Given the description of an element on the screen output the (x, y) to click on. 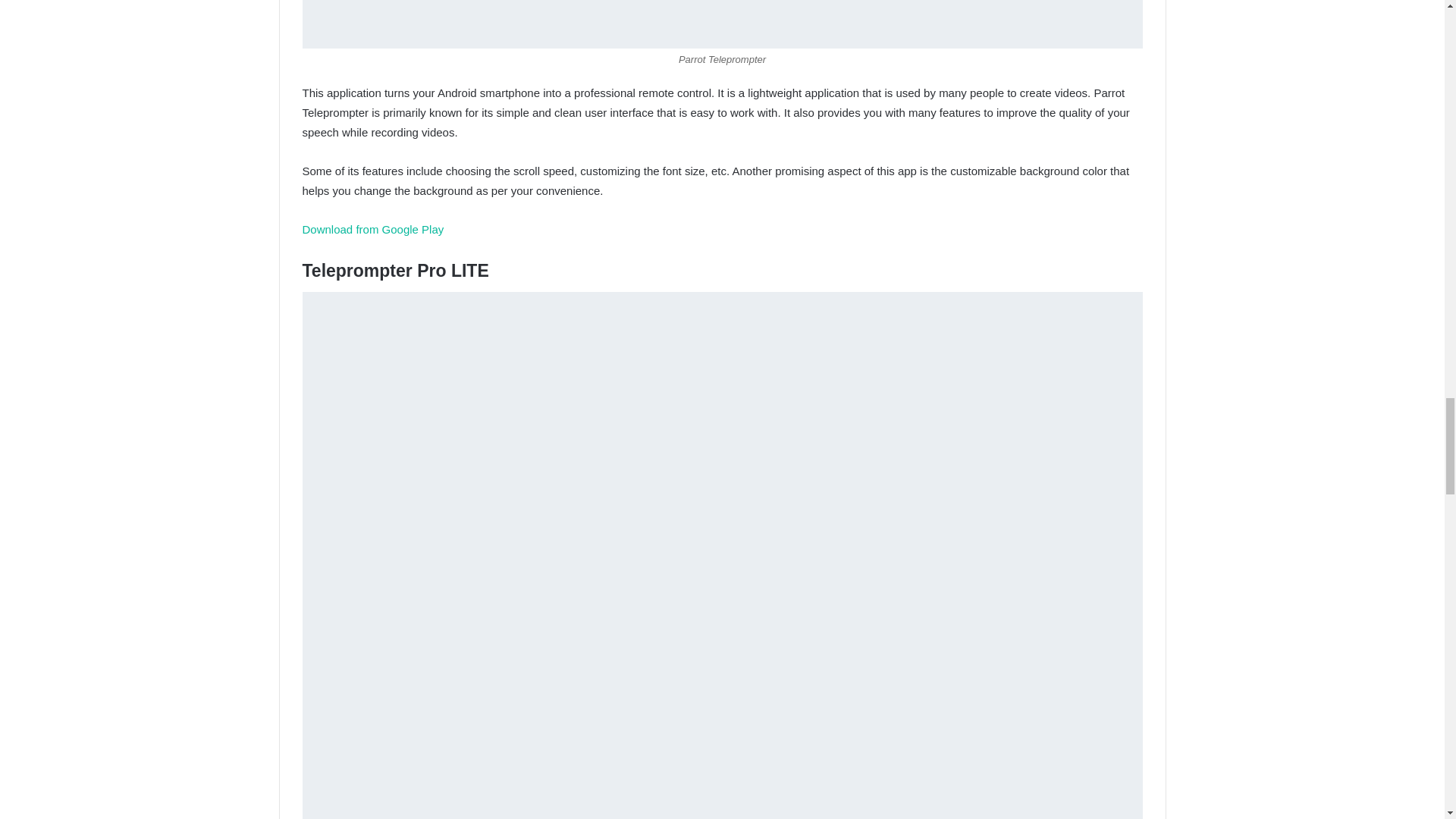
What Is the Best Teleprompter App for Android 3 (721, 24)
Download from Google Play (372, 228)
